Given the description of an element on the screen output the (x, y) to click on. 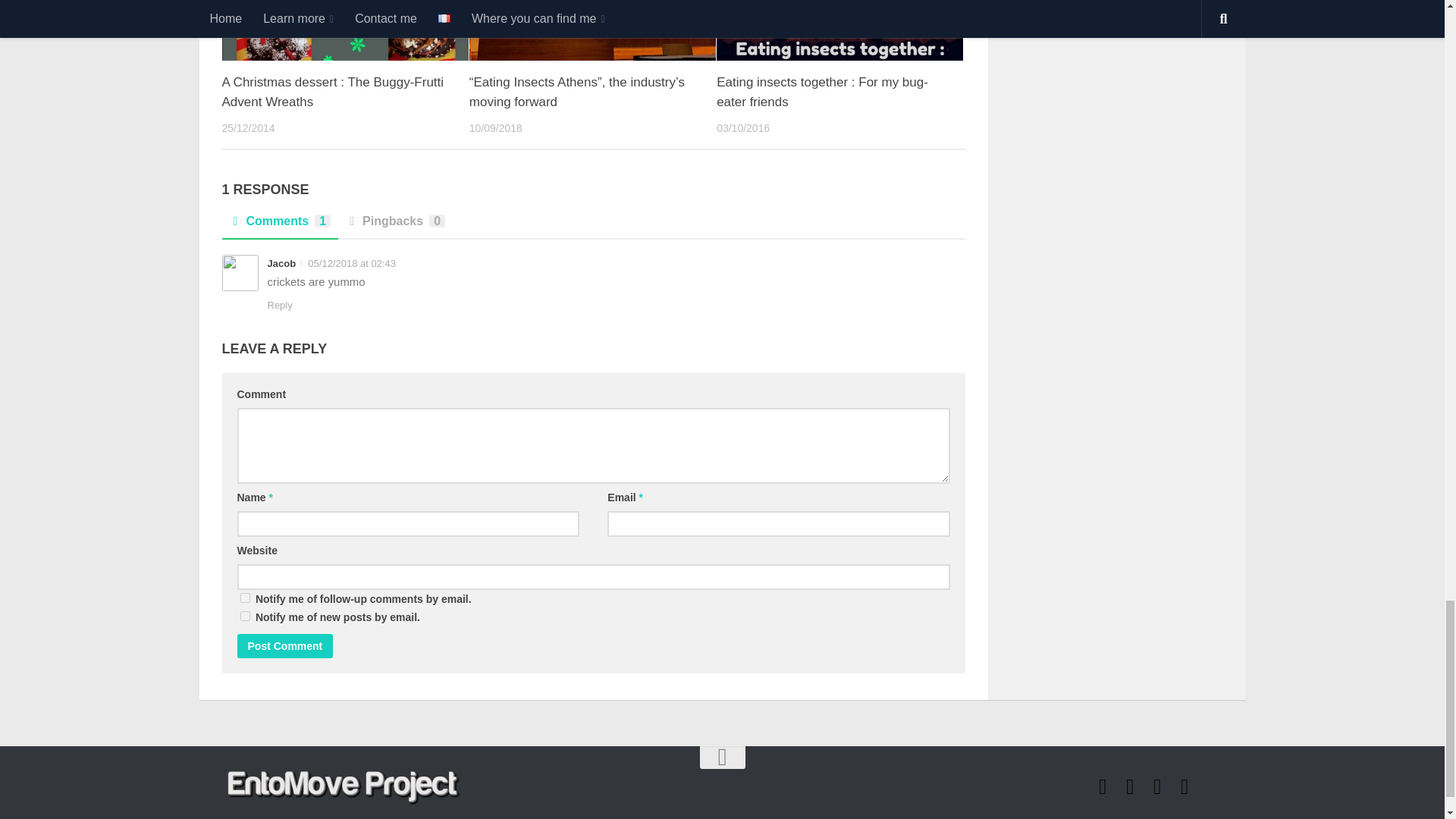
subscribe (244, 615)
A Christmas dessert : The Buggy-Frutti Advent Wreaths (332, 91)
subscribe (244, 597)
Post Comment (284, 645)
